Given the description of an element on the screen output the (x, y) to click on. 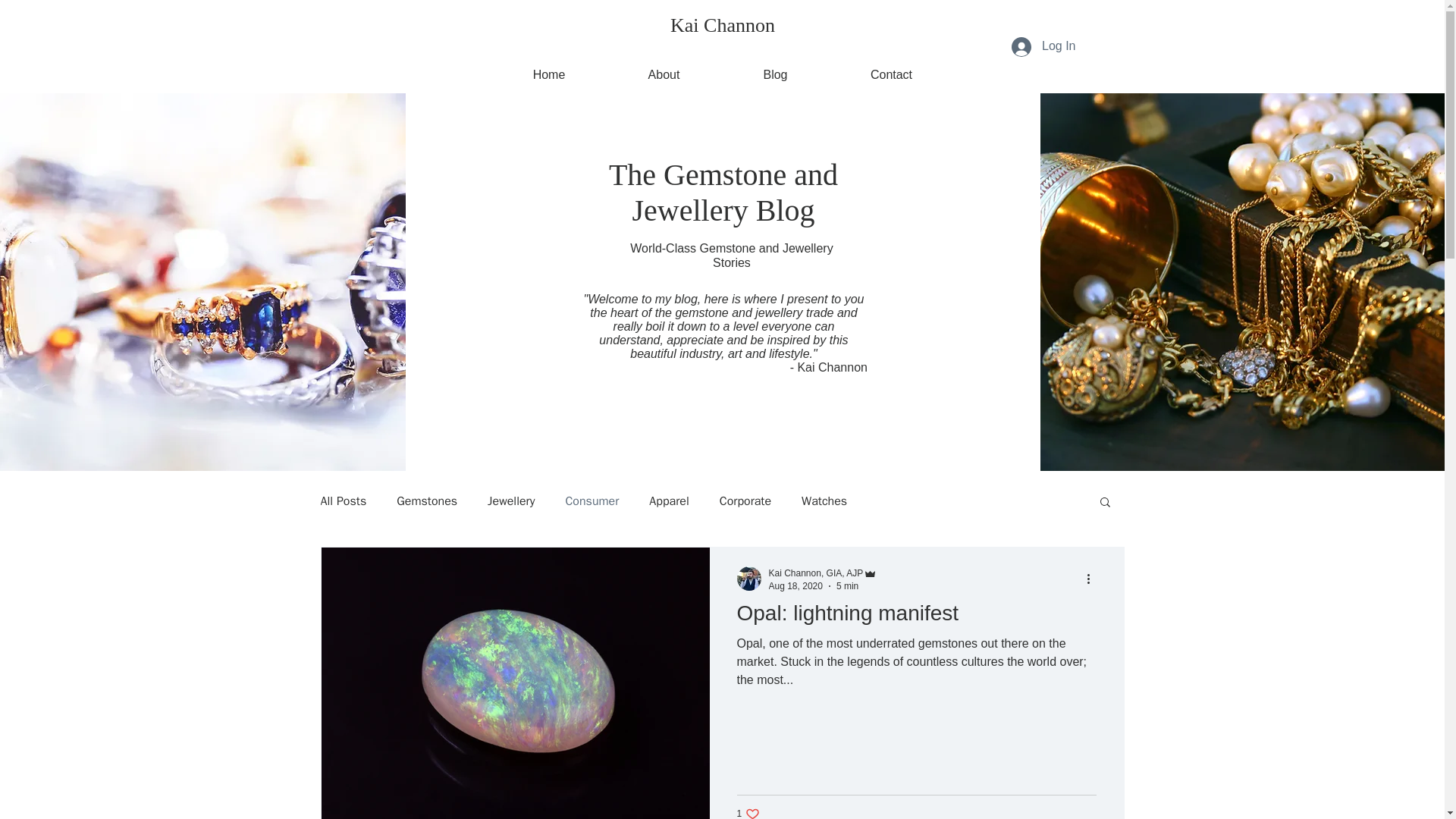
Log In (1043, 45)
Opal: lightning manifest (748, 812)
Aug 18, 2020 (916, 617)
Apparel (795, 585)
Watches (668, 500)
5 min (824, 500)
Kai Channon, GIA, AJP (847, 585)
Jewellery (815, 573)
Contact (510, 500)
Kai Channon, GIA, AJP (891, 68)
Corporate (822, 572)
Blog (745, 500)
Kai Channon (775, 68)
Gemstones (722, 25)
